Given the description of an element on the screen output the (x, y) to click on. 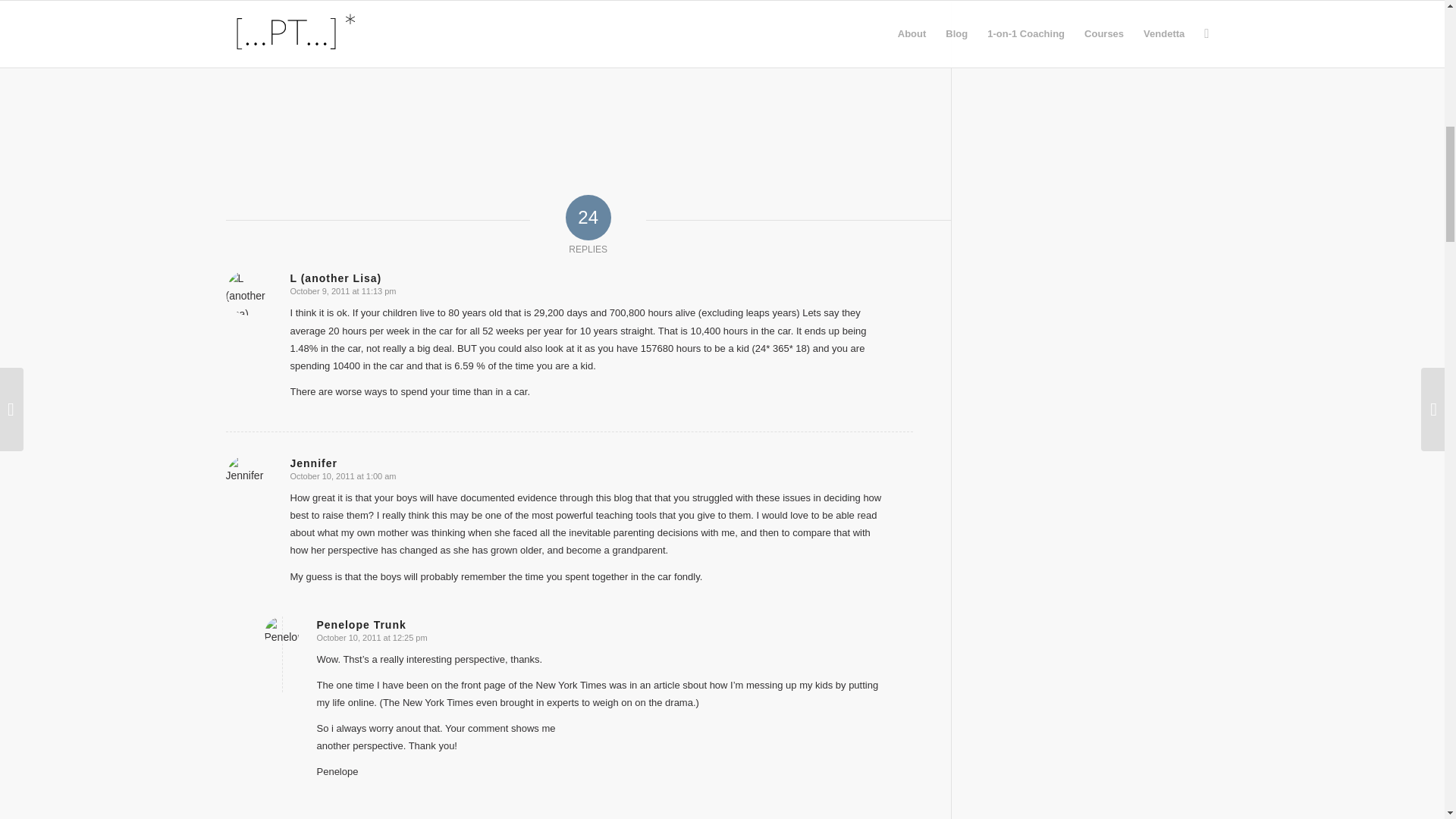
October 9, 2011 at 11:13 pm (342, 290)
October 10, 2011 at 1:00 am (342, 475)
October 10, 2011 at 12:25 pm (372, 637)
Form 0 (569, 82)
